Given the description of an element on the screen output the (x, y) to click on. 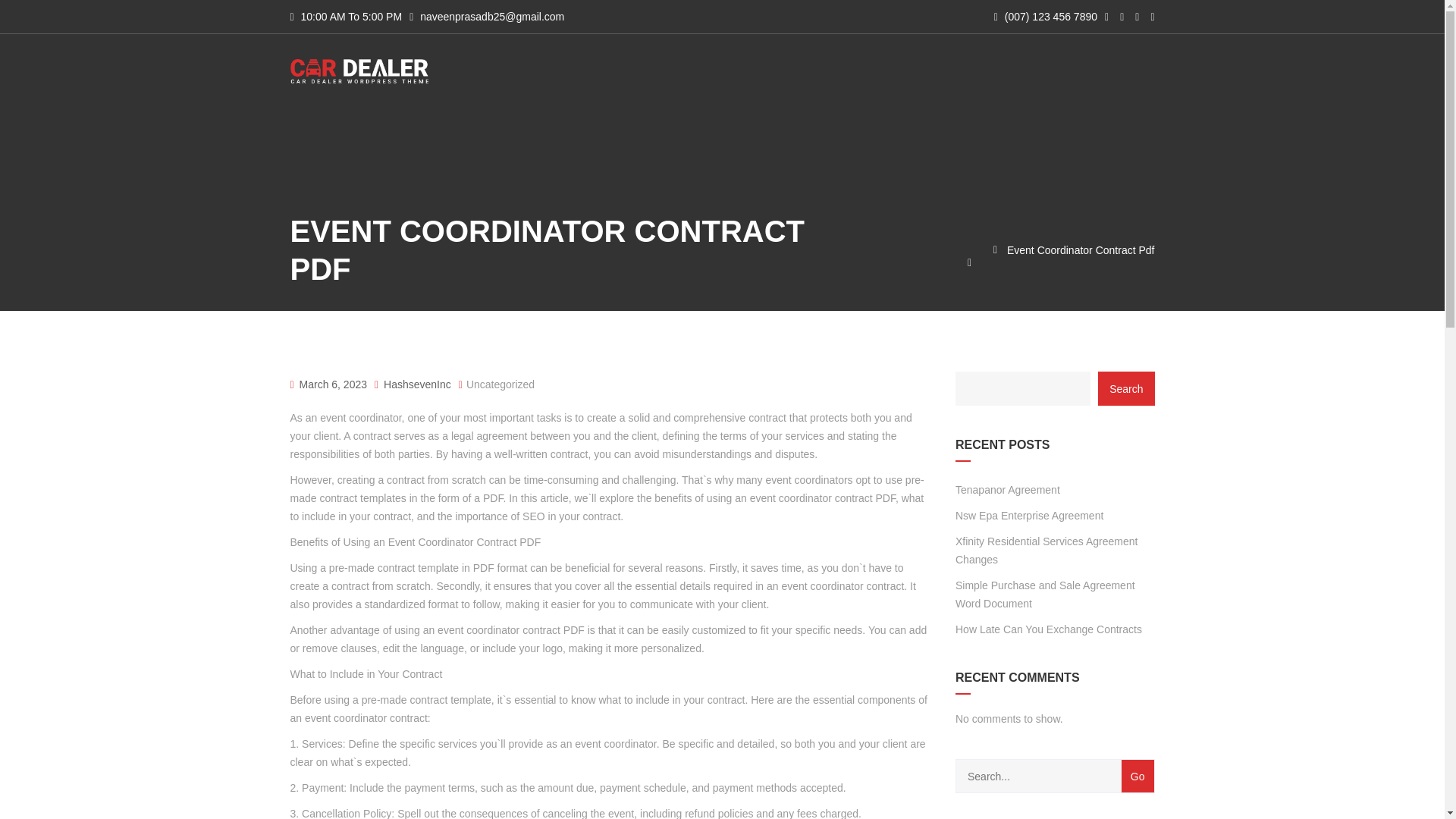
Tenapanor Agreement (1007, 489)
Go (1137, 776)
View all posts by HashsevenInc (412, 384)
Nsw Epa Enterprise Agreement (1029, 515)
HashsevenInc (412, 384)
Go (1137, 776)
March 6, 2023 (331, 384)
Simple Purchase and Sale Agreement Word Document (1054, 594)
Xfinity Residential Services Agreement Changes (1054, 550)
1:20 am (331, 384)
